Given the description of an element on the screen output the (x, y) to click on. 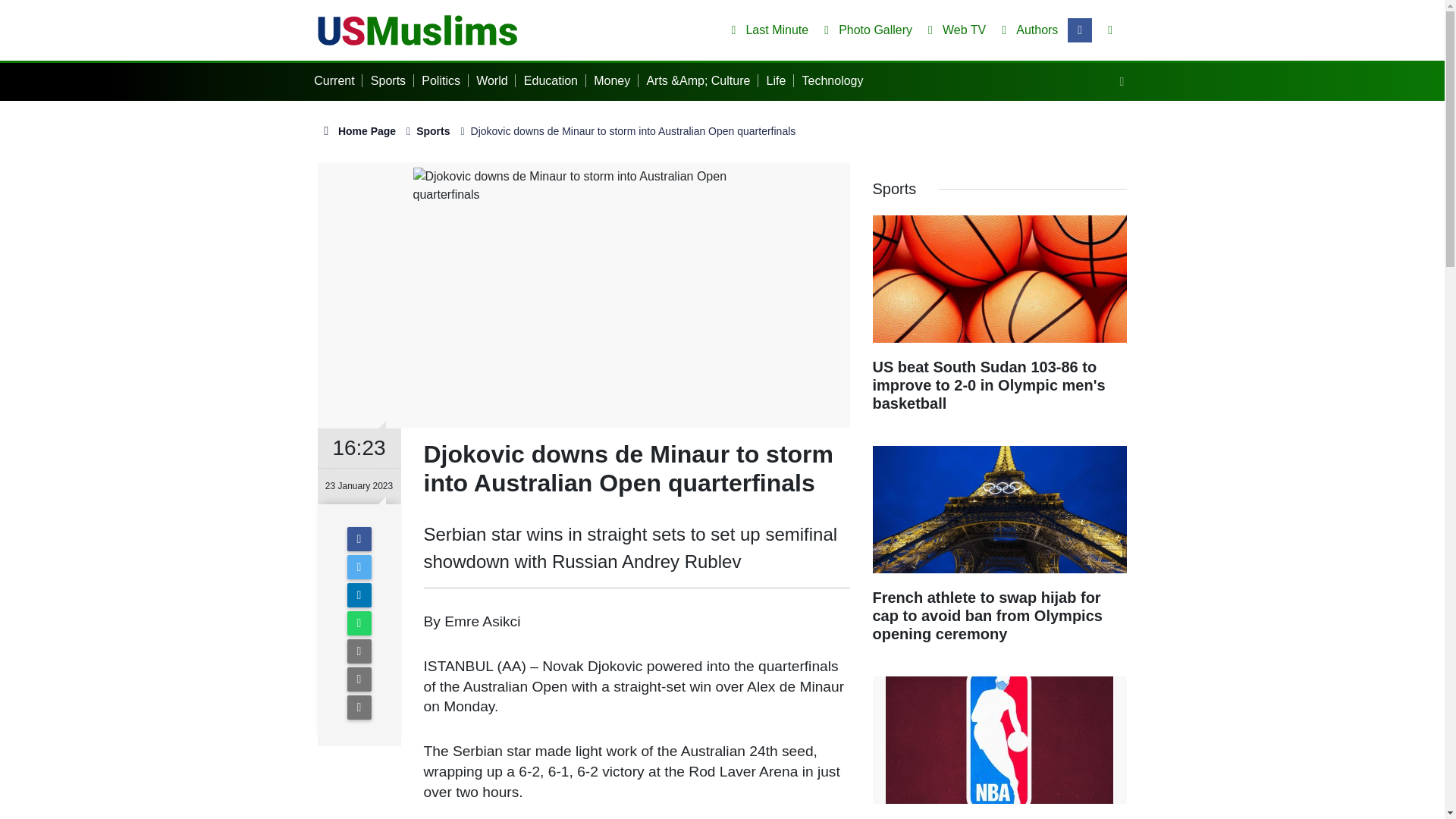
Sports (432, 131)
World (495, 80)
Twitter (359, 567)
Send to Friend (359, 651)
Money (616, 80)
Last Minute (766, 29)
Technology (836, 80)
To Comment (359, 707)
Sports (392, 80)
